Given the description of an element on the screen output the (x, y) to click on. 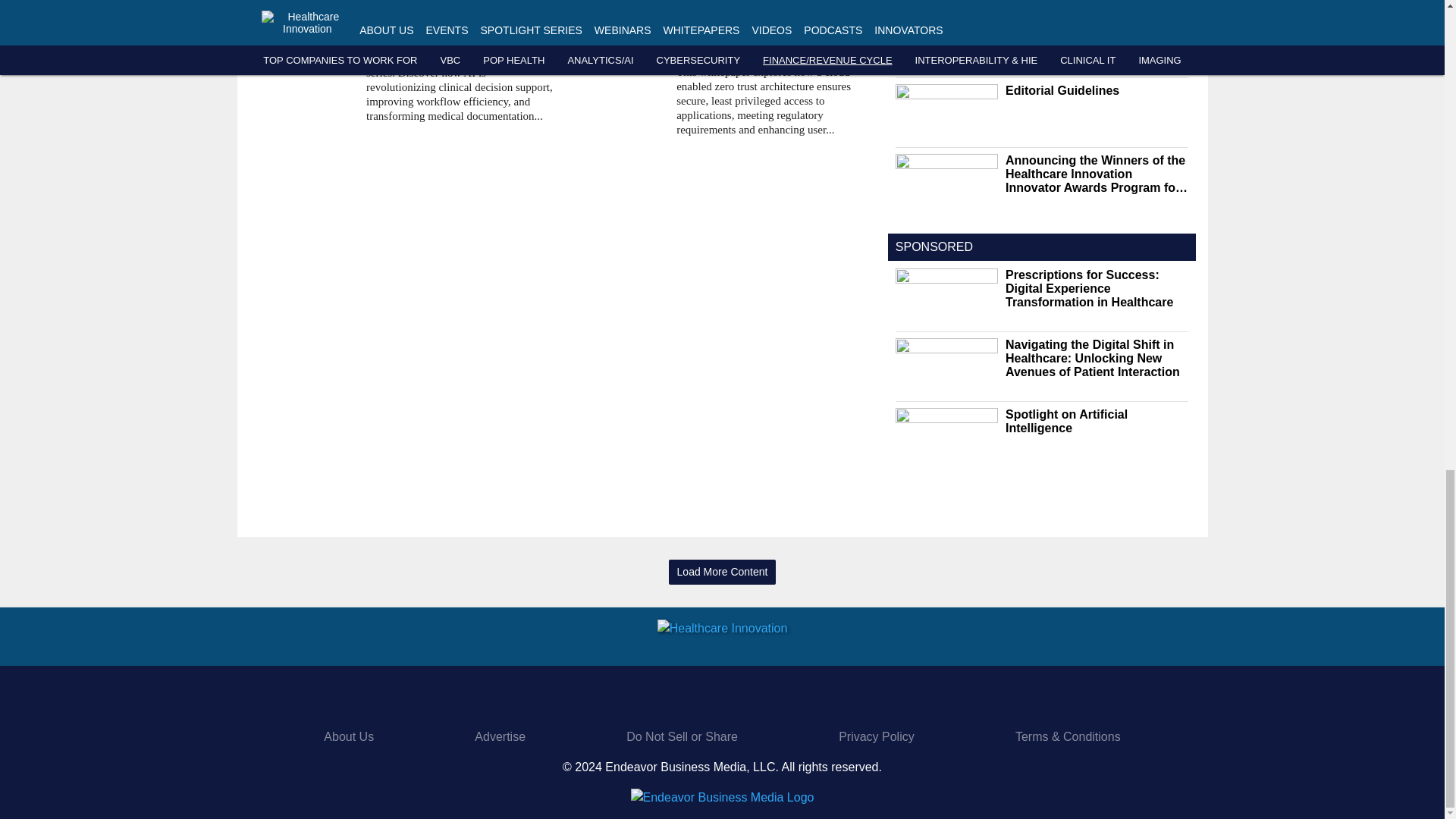
Spotlight on Artificial Intelligence (459, 31)
